Given the description of an element on the screen output the (x, y) to click on. 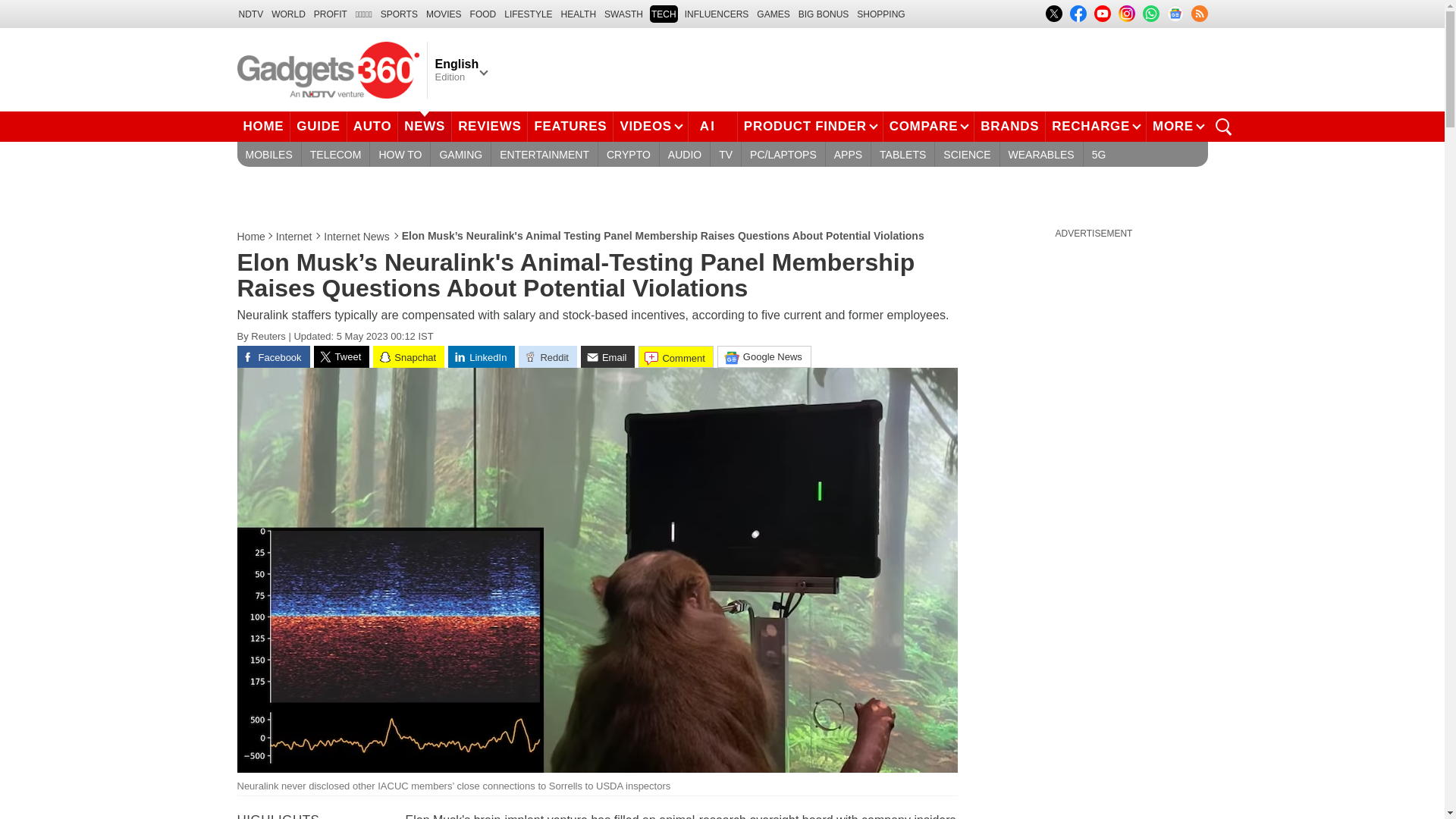
AUTO (372, 126)
PROFIT (331, 13)
MOVIES (444, 13)
WORLD (288, 13)
FEATURES (569, 126)
Games (772, 13)
TECH (663, 13)
SHOPPING (880, 13)
SWASTH (623, 13)
HOME (262, 126)
